Given the description of an element on the screen output the (x, y) to click on. 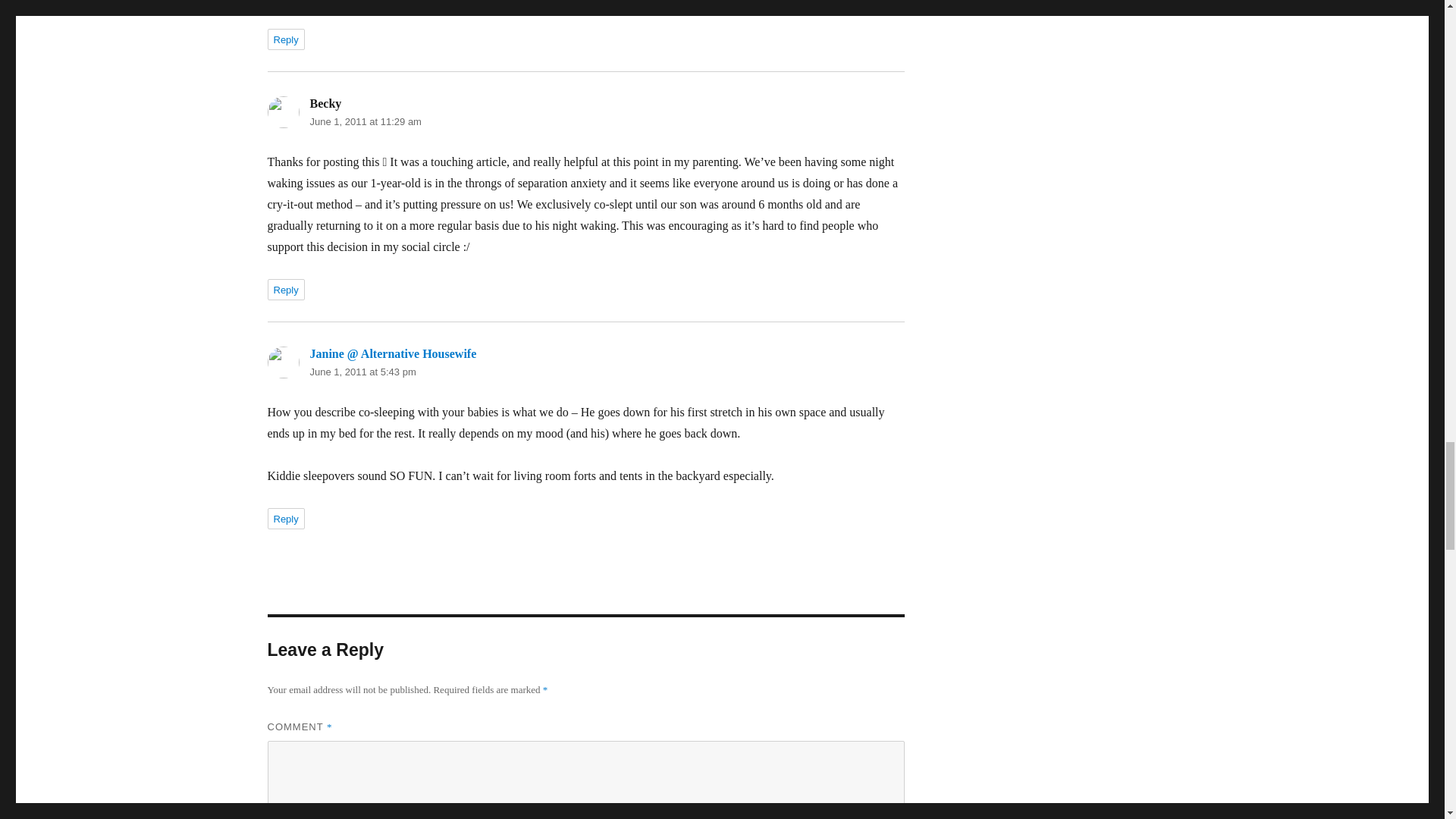
Reply (285, 38)
Reply (285, 289)
June 1, 2011 at 11:29 am (364, 121)
Reply (285, 518)
June 1, 2011 at 5:43 pm (361, 371)
